Given the description of an element on the screen output the (x, y) to click on. 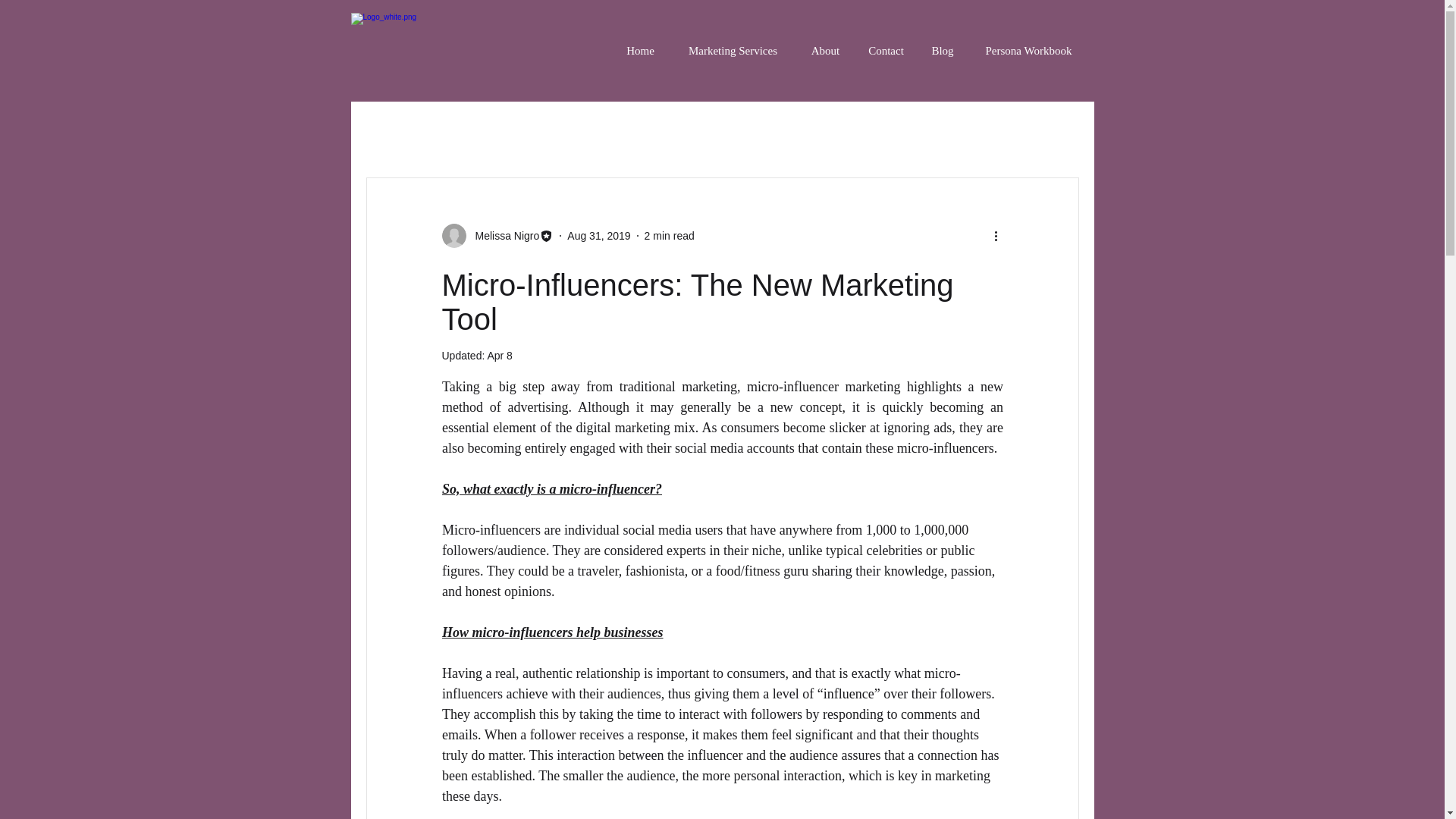
Melissa Nigro (497, 235)
2 min read (669, 234)
Home (640, 50)
Blog (942, 50)
Contact (884, 50)
Marketing Services (731, 50)
Aug 31, 2019 (598, 234)
Apr 8 (499, 355)
Melissa Nigro (501, 235)
About (825, 50)
Persona Workbook (1028, 50)
